Given the description of an element on the screen output the (x, y) to click on. 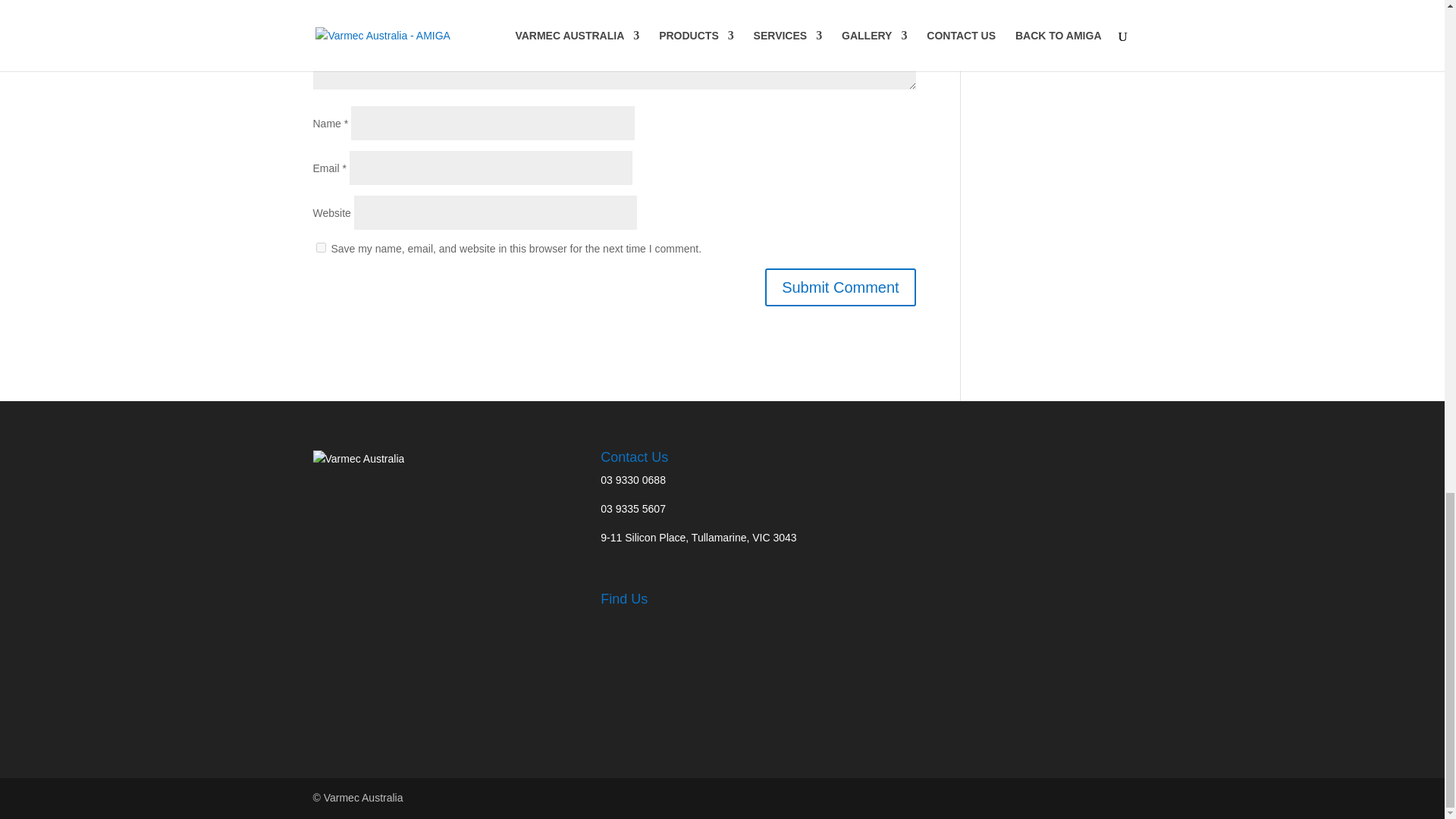
Submit Comment (840, 287)
yes (319, 247)
Submit Comment (840, 287)
